Given the description of an element on the screen output the (x, y) to click on. 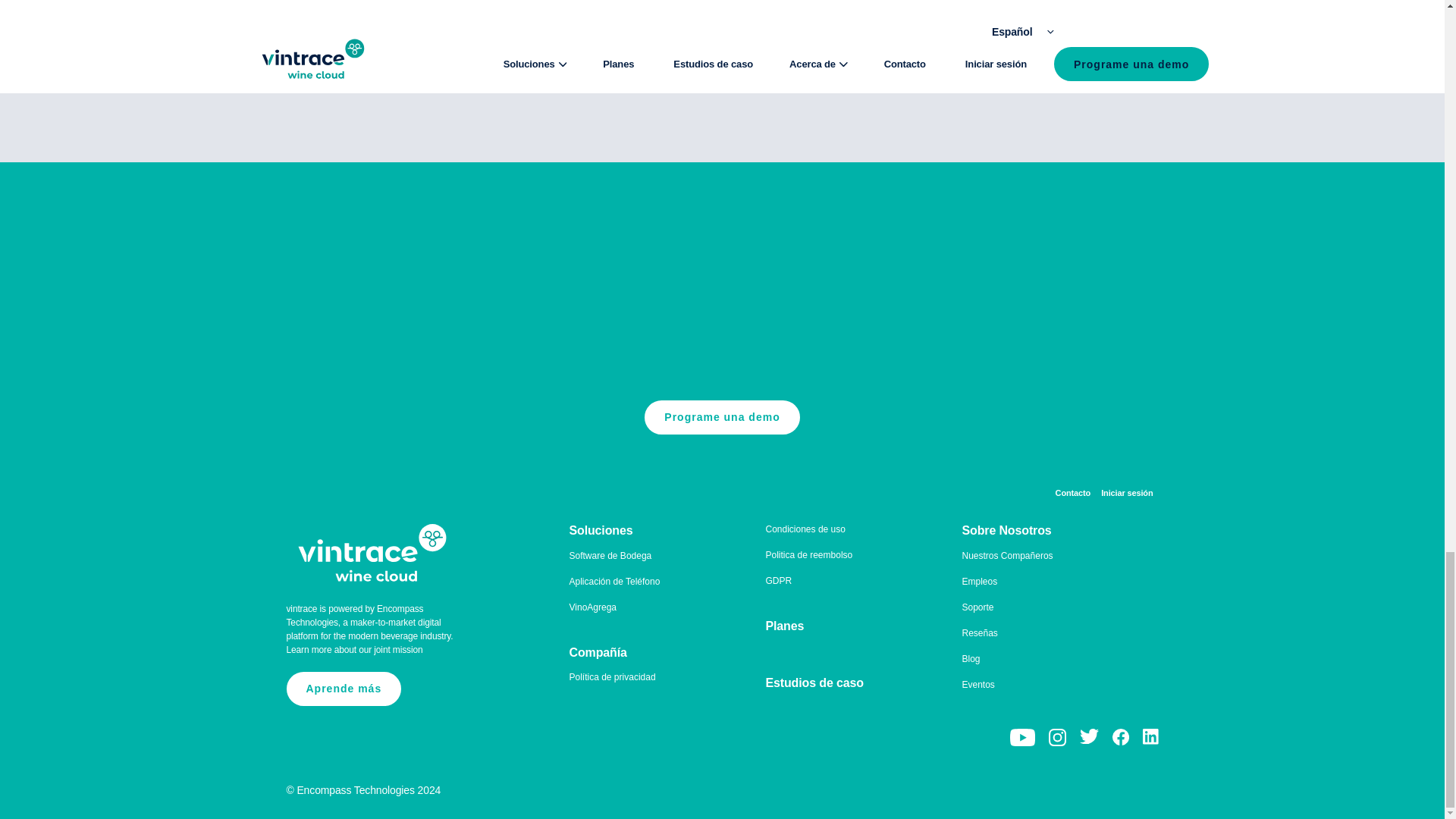
GDPR (778, 580)
Sobre Nosotros (1005, 530)
Eventos (977, 684)
Soporte (976, 606)
VinoAgrega (592, 606)
Blog (969, 658)
Programe una demo (722, 417)
Contacto (1072, 492)
Condiciones de uso (805, 529)
Empleos (978, 581)
Estudios de caso (814, 682)
Planes (785, 625)
Politica de reembolso (809, 554)
Software de Bodega (609, 555)
